Given the description of an element on the screen output the (x, y) to click on. 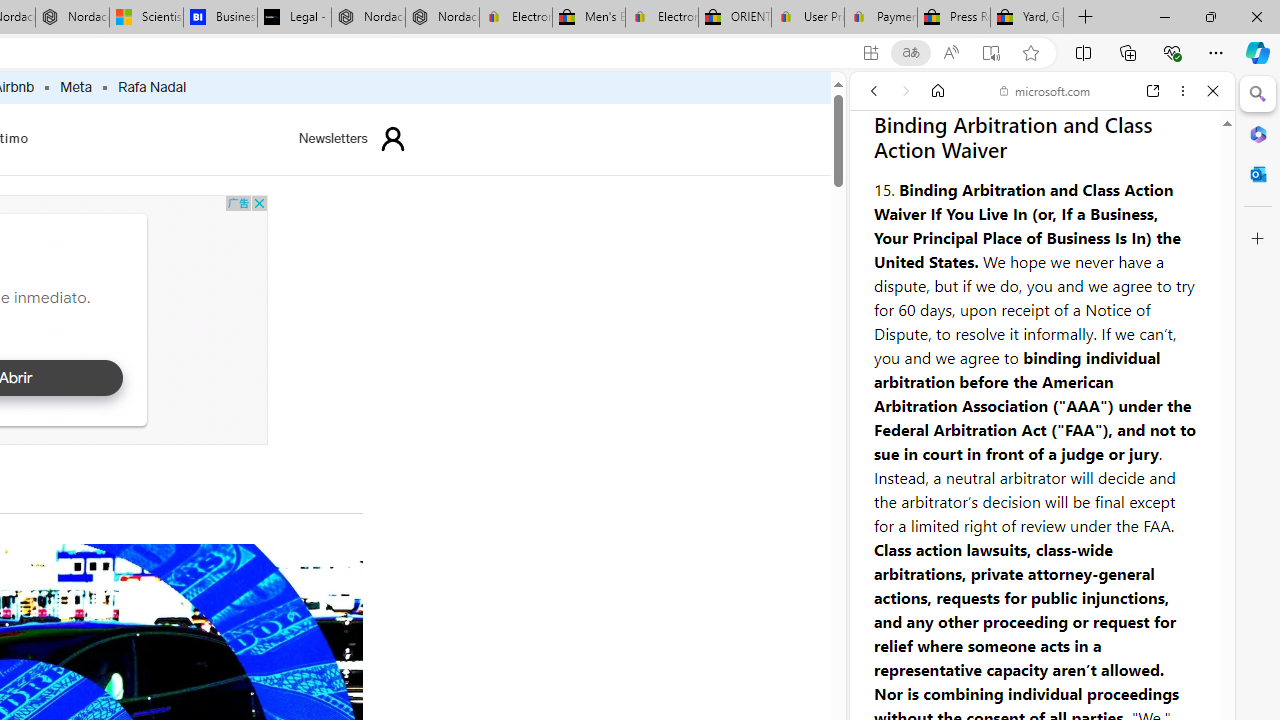
Payments Terms of Use | eBay.com (880, 17)
Open link in new tab (1153, 91)
Outlook (1258, 174)
Minimize Search pane (1258, 94)
Search the web (1051, 137)
Nordace - Summer Adventures 2024 (367, 17)
microsoft.com (1045, 90)
Rafa Nadal (151, 88)
